Given the description of an element on the screen output the (x, y) to click on. 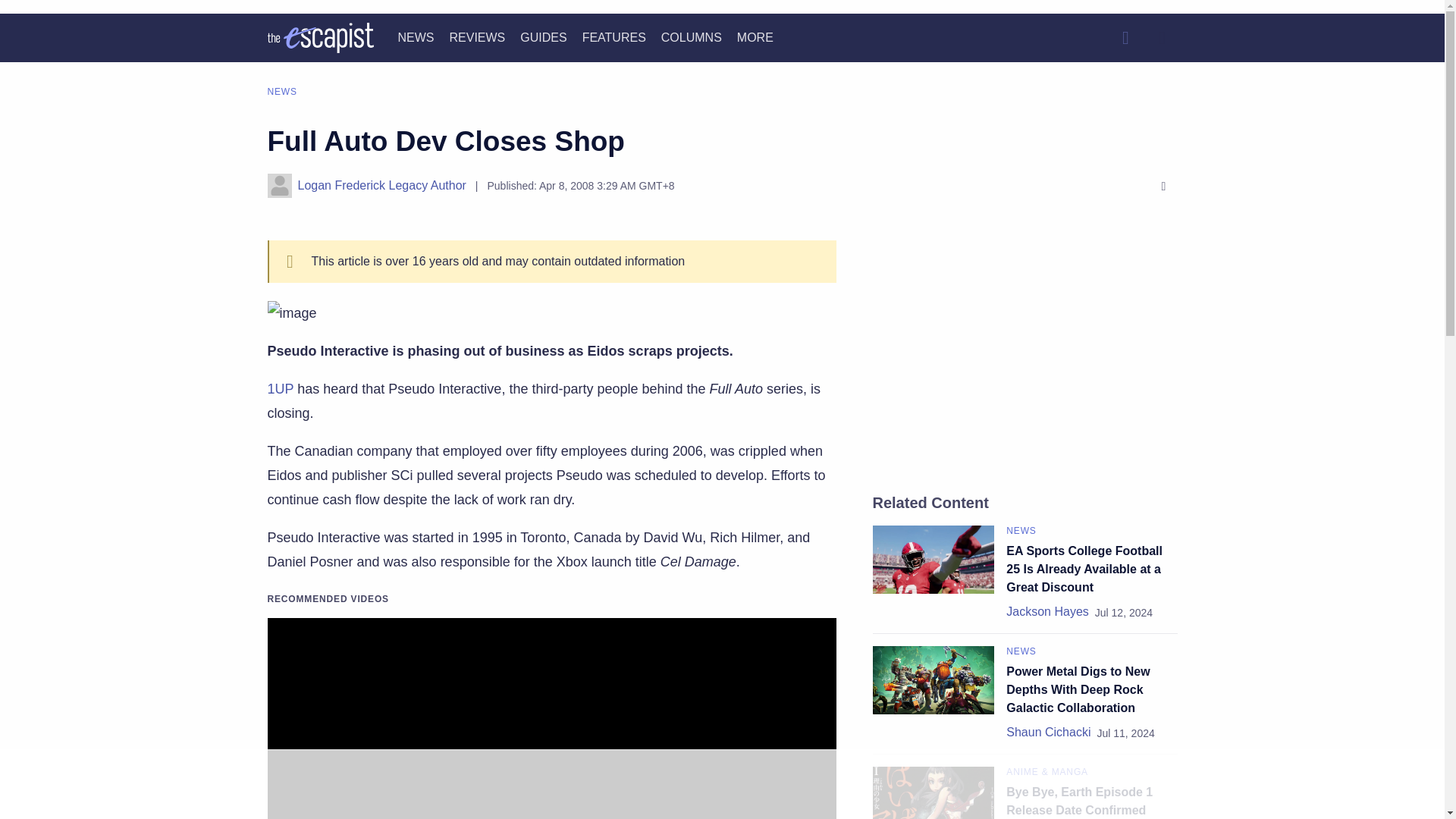
Dark Mode (1161, 37)
REVIEWS (476, 37)
3rd party ad content (721, 785)
COLUMNS (691, 37)
GUIDES (542, 37)
NEWS (415, 37)
FEATURES (614, 37)
3rd party ad content (1024, 353)
Search (1124, 37)
